Given the description of an element on the screen output the (x, y) to click on. 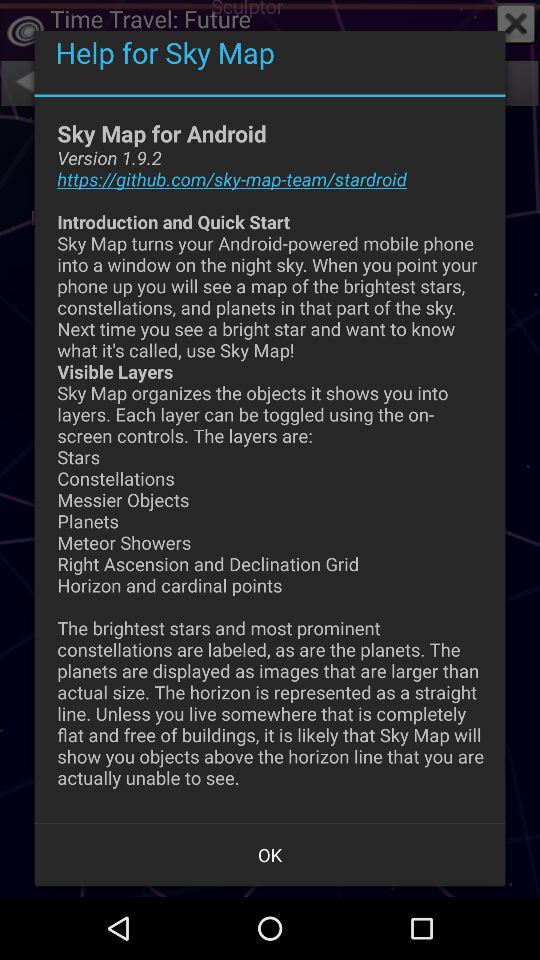
select app below sky map for (269, 854)
